Given the description of an element on the screen output the (x, y) to click on. 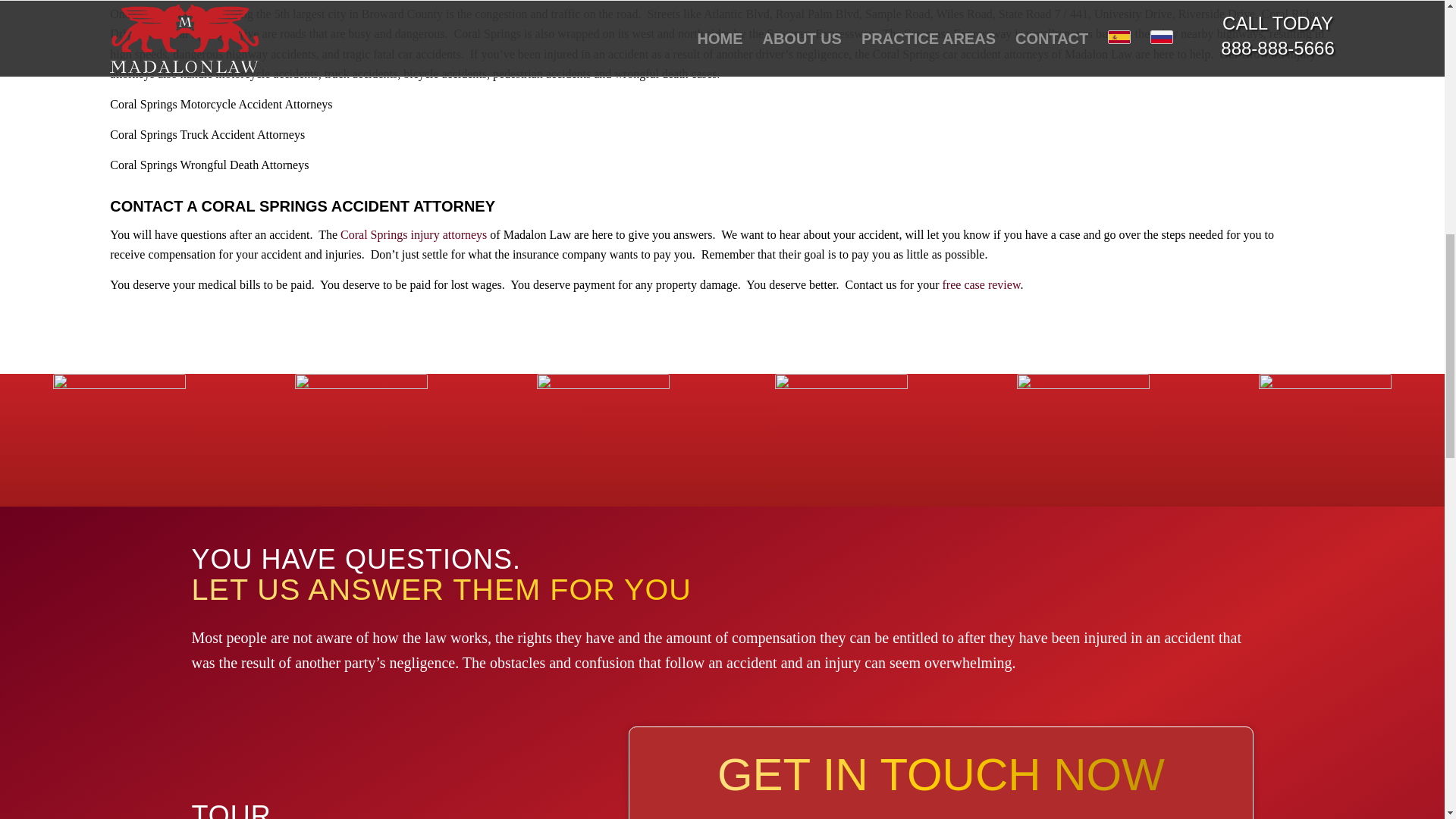
aaj (361, 439)
multimilliondollar (119, 439)
nadc (1325, 439)
top-attorneys (840, 439)
super-lawyers (603, 439)
free case review (981, 284)
legal-elite-100 (1083, 439)
Coral Springs injury attorneys (413, 234)
